Given the description of an element on the screen output the (x, y) to click on. 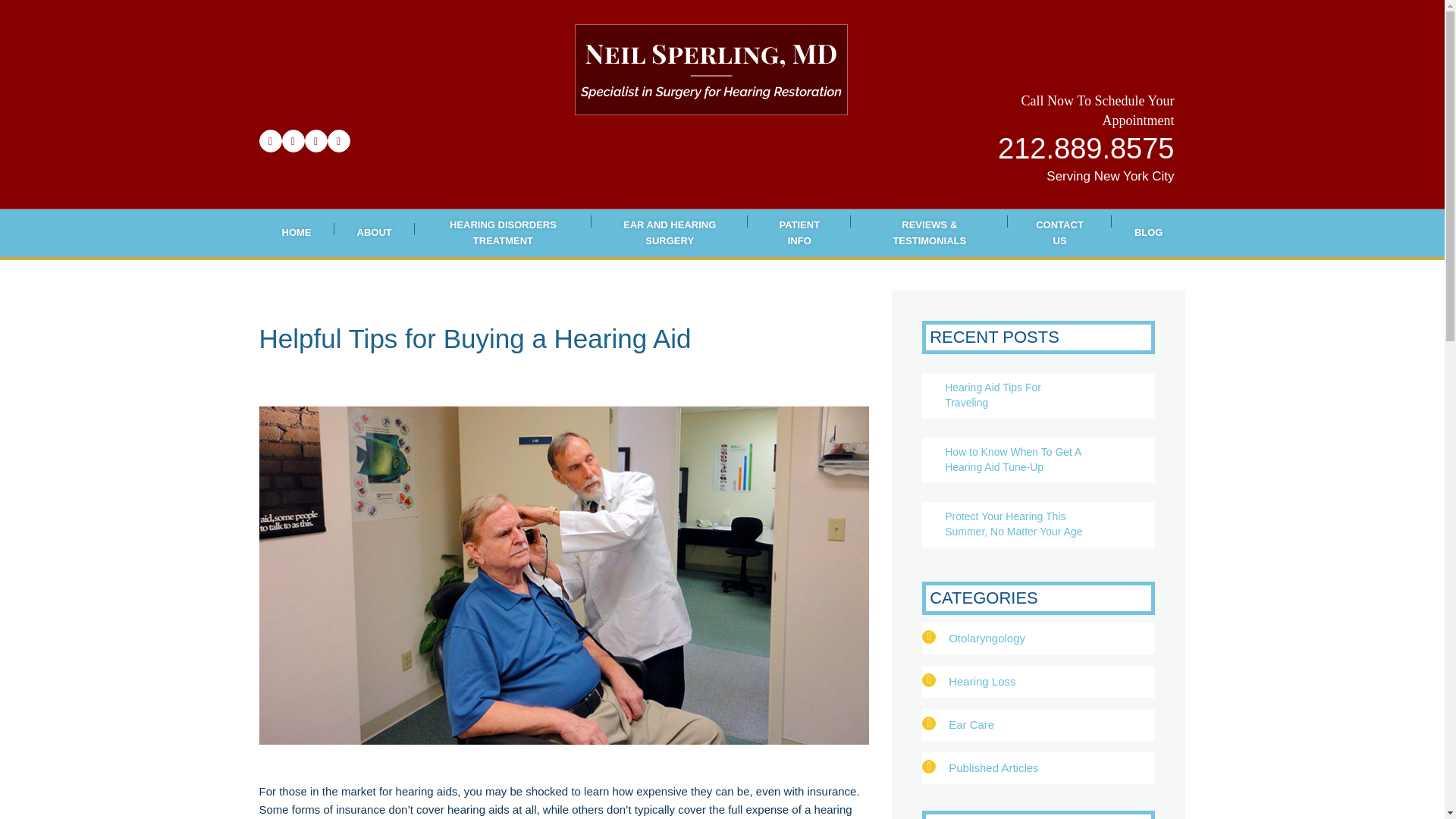
HOME (296, 232)
ABOUT (373, 232)
EAR AND HEARING SURGERY (669, 233)
212.889.8575 (1085, 152)
HEARING DISORDERS TREATMENT (502, 233)
